Given the description of an element on the screen output the (x, y) to click on. 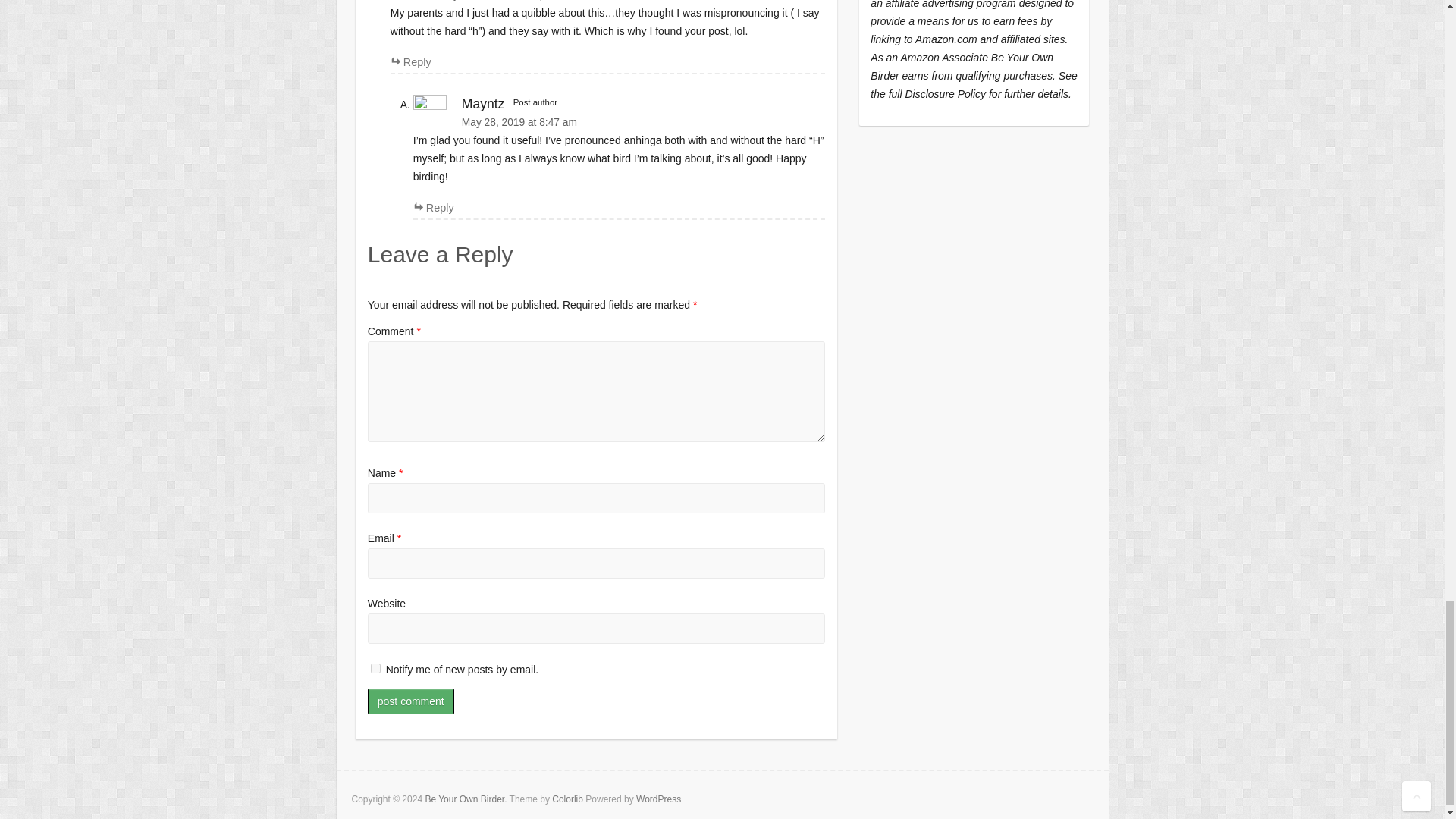
Reply (410, 61)
May 28, 2019 at 8:47 am (619, 122)
Reply (433, 207)
Post Comment (411, 701)
Post Comment (411, 701)
subscribe (375, 668)
